Given the description of an element on the screen output the (x, y) to click on. 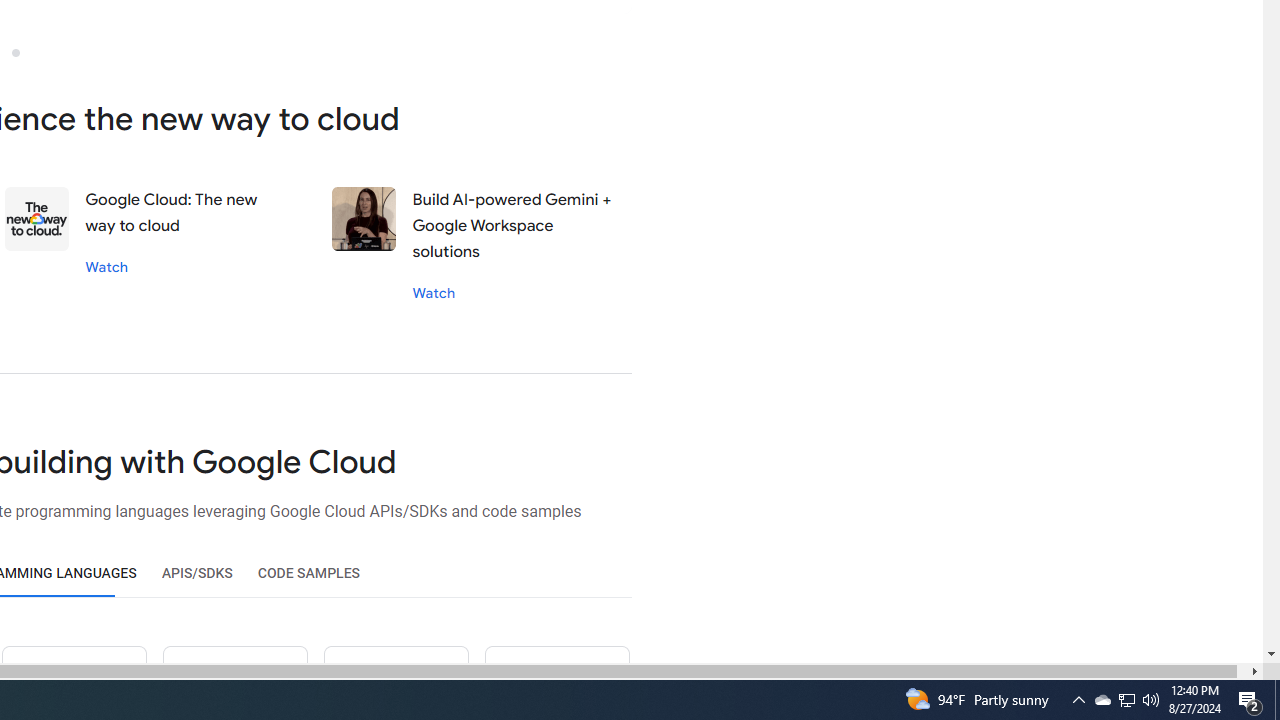
CODE SAMPLES (308, 573)
Ruby icon (235, 682)
Stephanie wong's interview session (363, 219)
Watch (433, 292)
CPP icon (556, 682)
Data value (37, 219)
APIS/SDKS (196, 573)
Slide 3 (15, 52)
Dot net icon (395, 682)
CODE SAMPLES (308, 573)
APIS/SDKS (196, 573)
